Given the description of an element on the screen output the (x, y) to click on. 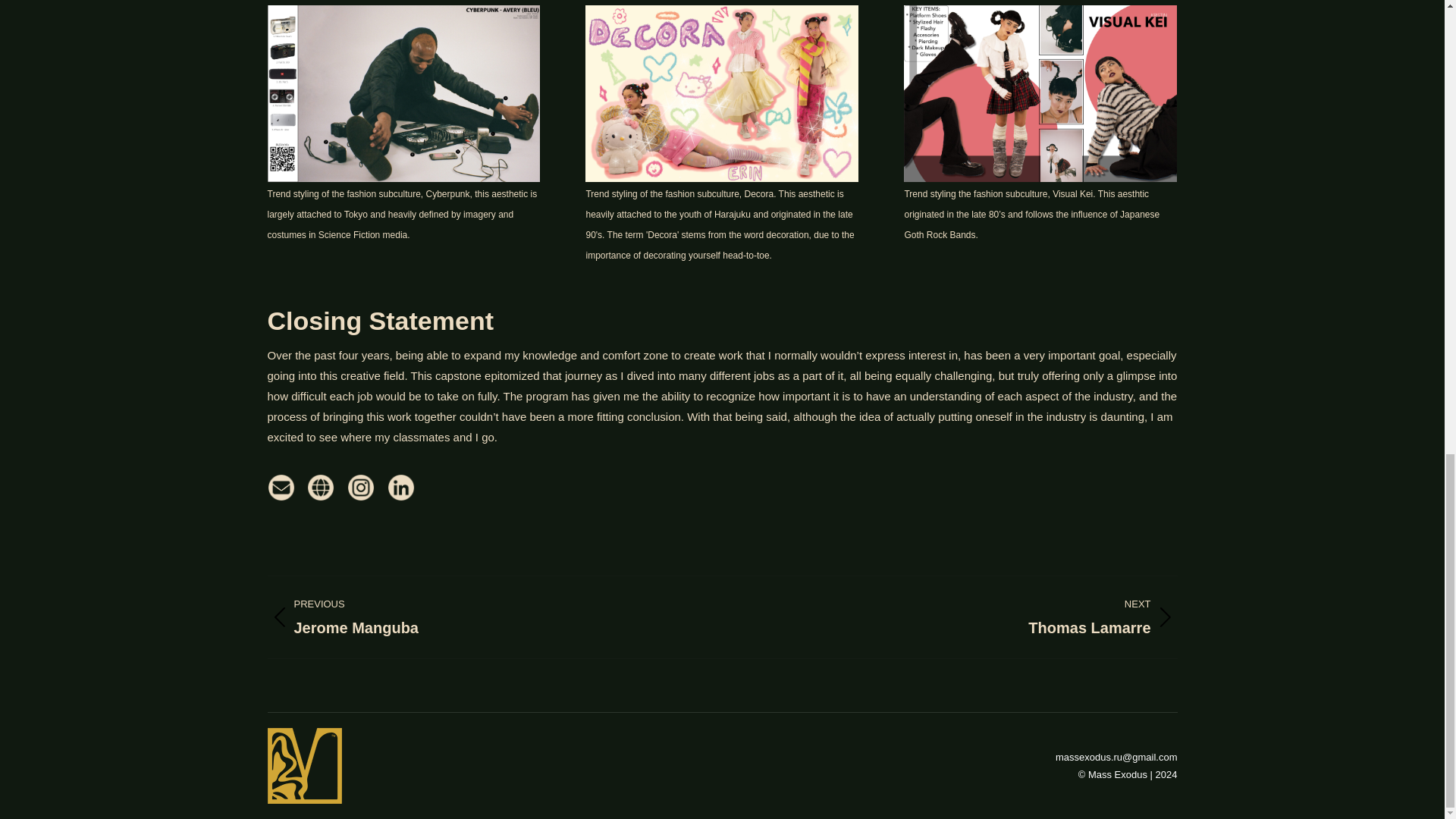
Kaitlyn-Ninaka-King-asset6 - Kaitlyn Ninaka-King (482, 617)
Kaitlyn-Ninaka-King-asset5 - Kaitlyn Ninaka-King (1040, 92)
Kaitlyn-Ninaka-King-asset4 - Kaitlyn Ninaka-King (960, 617)
